Given the description of an element on the screen output the (x, y) to click on. 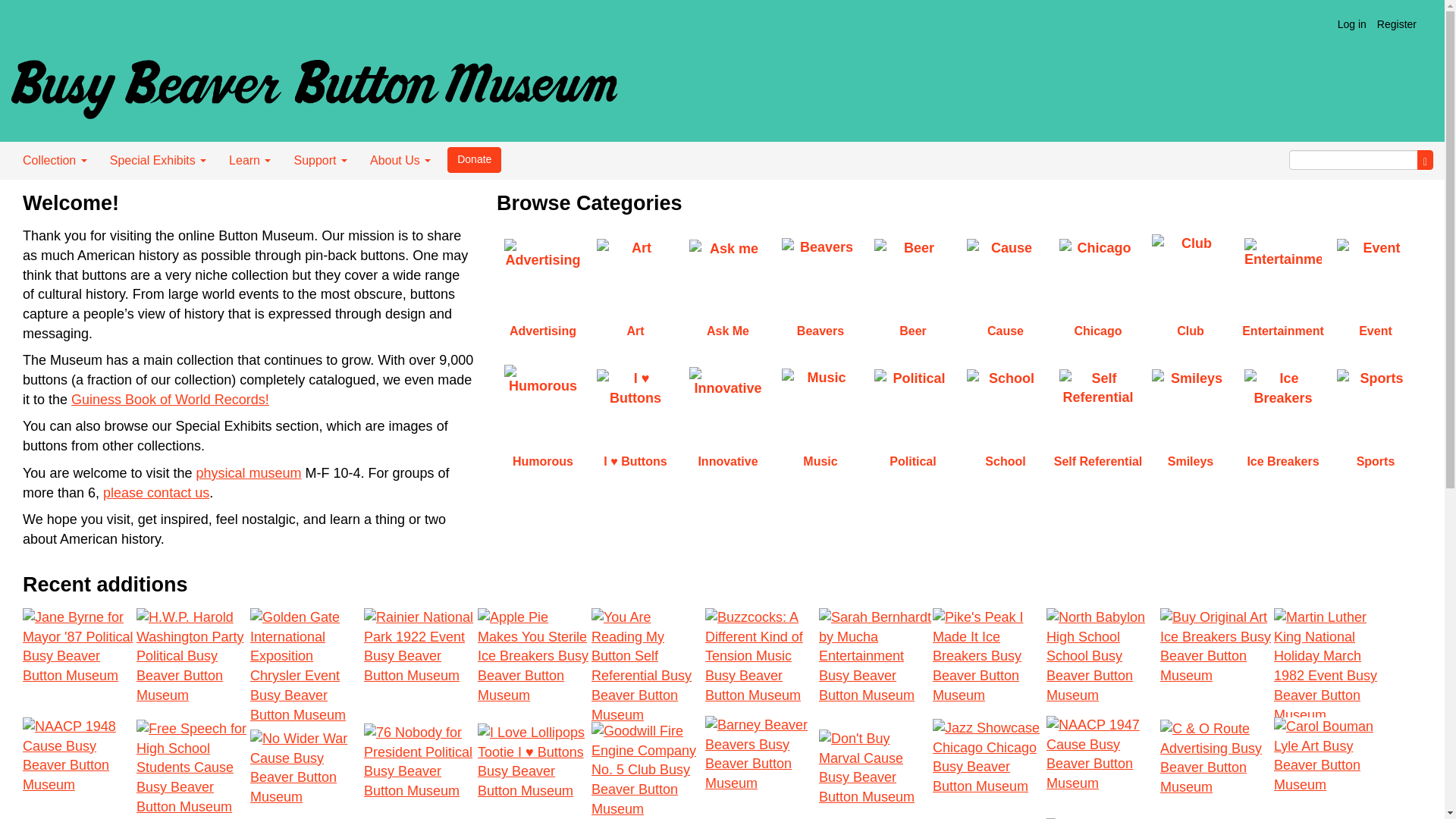
Carol Bouman Lyle (1330, 768)
Collection (55, 160)
Jane Byrne for Mayor '87 (79, 662)
physical museum (248, 473)
Rainier National Park 1922 (420, 665)
Donate (473, 159)
Sarah Bernhardt by Mucha (875, 668)
Special Exhibits (157, 160)
You Are Reading My Button (647, 664)
H.W.P. Harold Washington Party (193, 663)
Buy Original Art (1217, 663)
Buzzcocks: A Different Kind of Tension (761, 661)
NAACP 1948 (79, 768)
Pike's Peak I Made It (989, 663)
Golden Gate International Exposition Chrysler (307, 668)
